Given the description of an element on the screen output the (x, y) to click on. 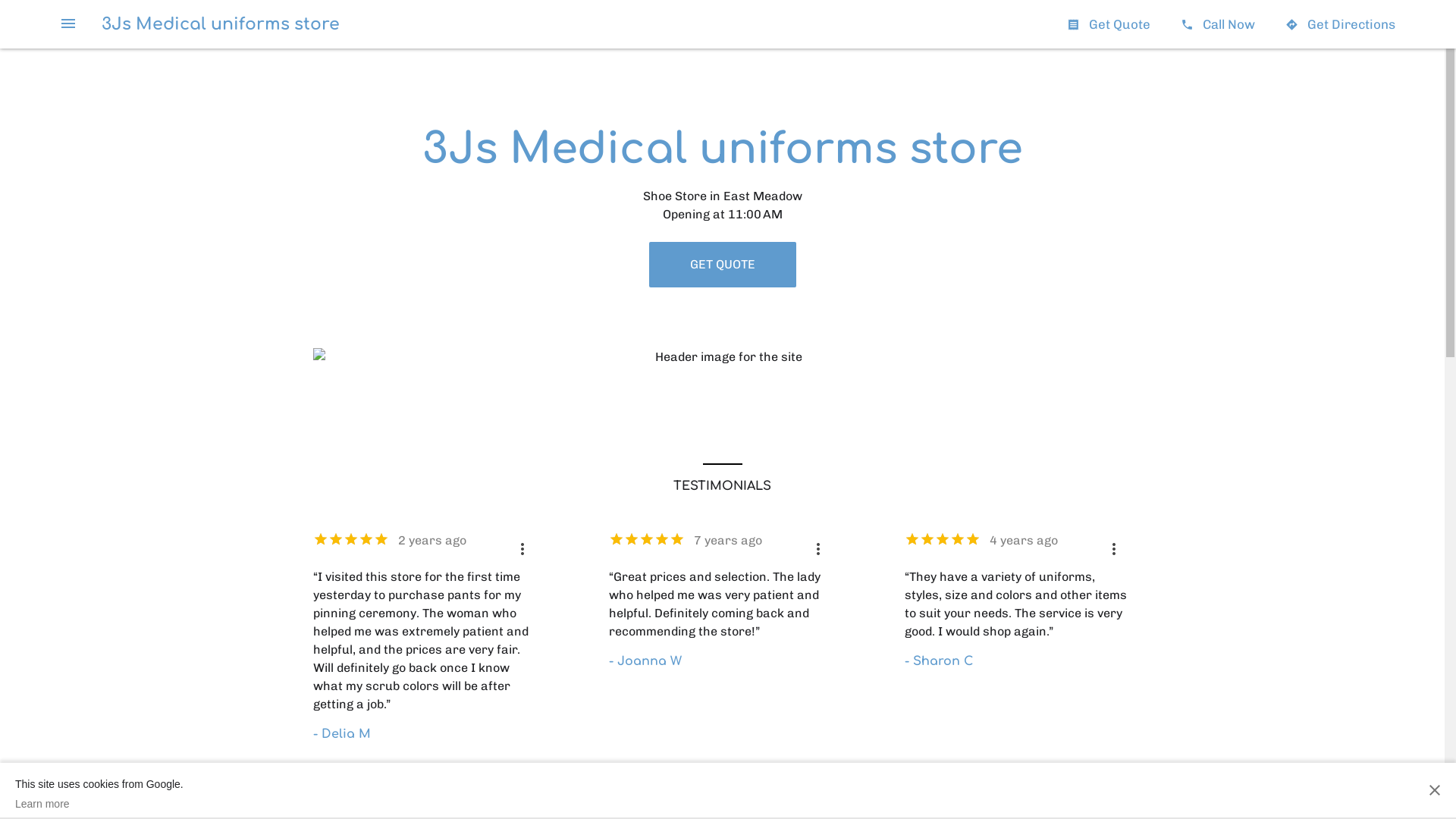
3Js Medical uniforms store Element type: text (220, 24)
GET QUOTE Element type: text (722, 264)
READ MORE Element type: text (783, 800)
WRITE A REVIEW Element type: text (674, 800)
Learn more Element type: text (99, 803)
